Given the description of an element on the screen output the (x, y) to click on. 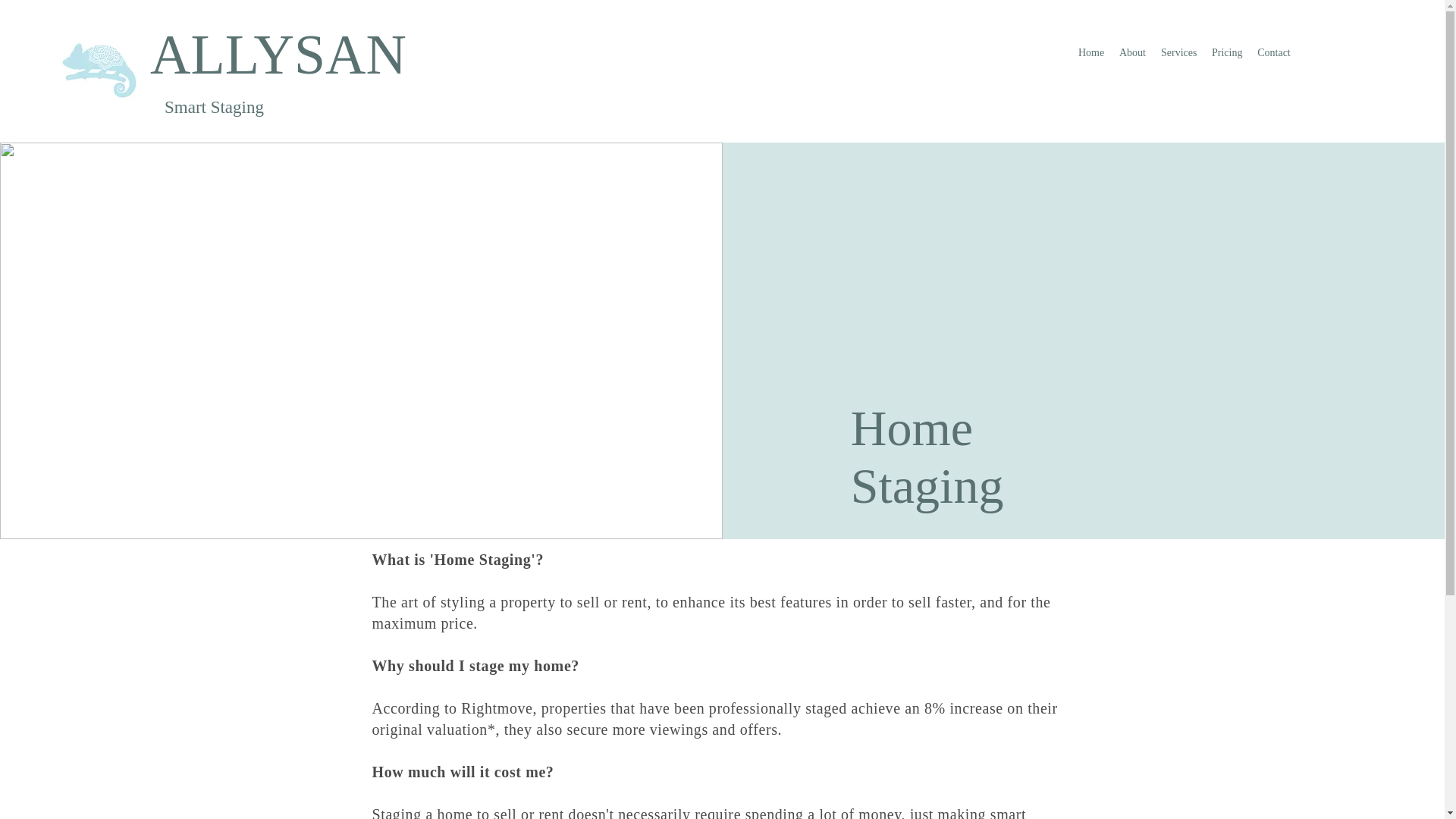
Pricing (1226, 52)
Contact (1273, 52)
ALLYSAN (277, 54)
Services (1178, 52)
About (1132, 52)
Home (1091, 52)
